Given the description of an element on the screen output the (x, y) to click on. 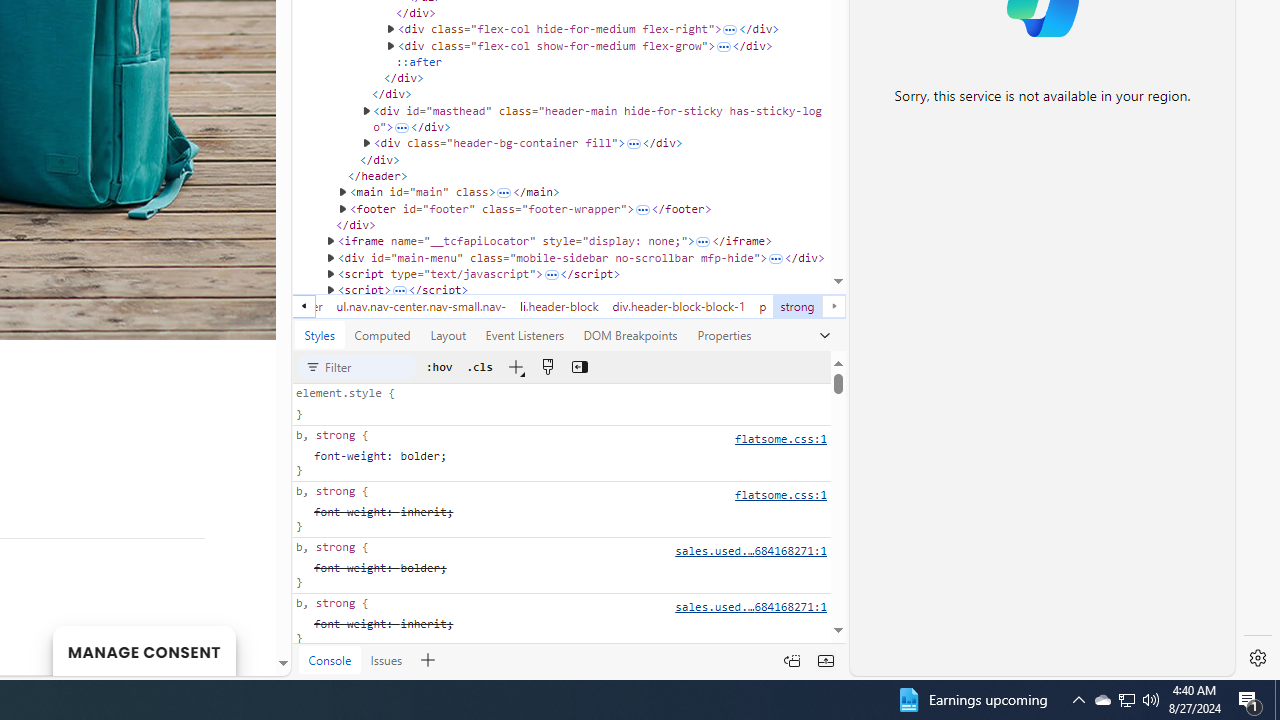
MANAGE CONSENT (143, 650)
p (763, 306)
Scroll left (303, 305)
div.flex-col.hide-for-medium.flex-center (217, 306)
Issues (386, 659)
div.header-block-block-1 (678, 305)
div.header-block-block-1 (678, 306)
Event Listeners (524, 335)
Console (329, 659)
li.header-block (559, 306)
New Style Rule (514, 366)
element.style, css selector (560, 404)
Toggle common rendering emulations (546, 366)
Scroll right (833, 305)
